Given the description of an element on the screen output the (x, y) to click on. 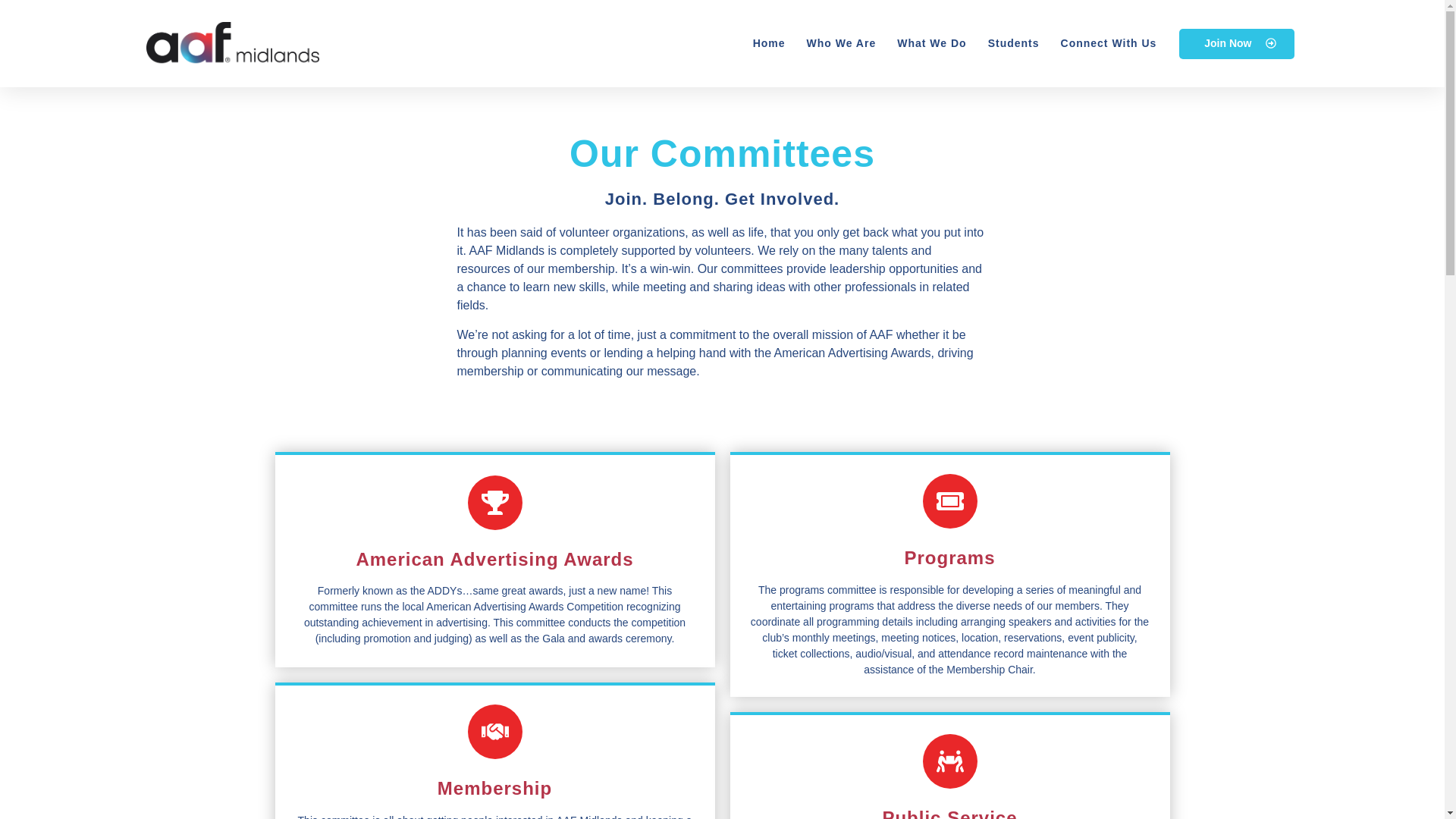
Who We Are (841, 43)
Students (1013, 43)
Connect With Us (1109, 43)
What We Do (931, 43)
Home (769, 43)
